Given the description of an element on the screen output the (x, y) to click on. 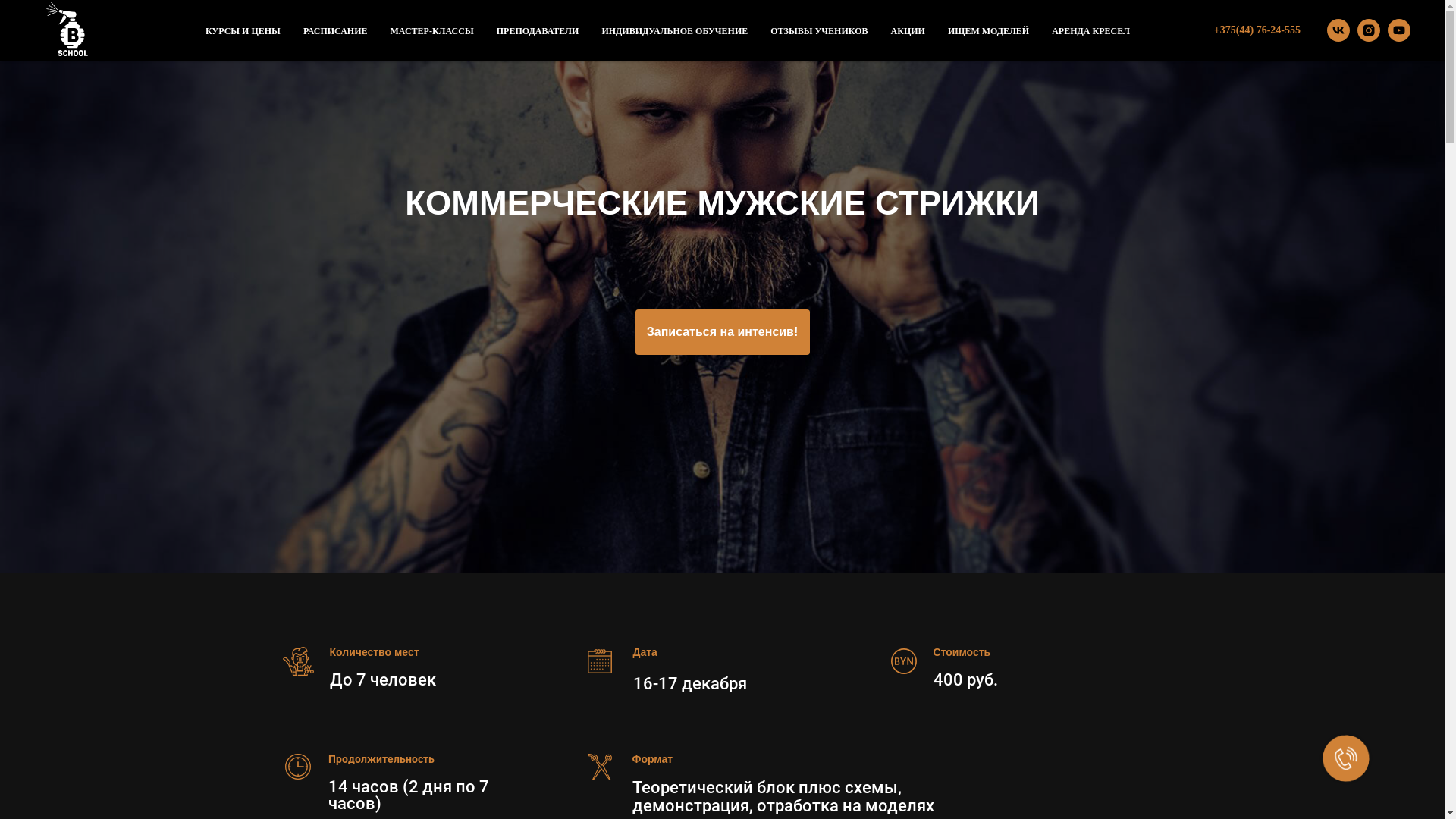
+375(44) 76-24-555 Element type: text (1257, 29)
